Given the description of an element on the screen output the (x, y) to click on. 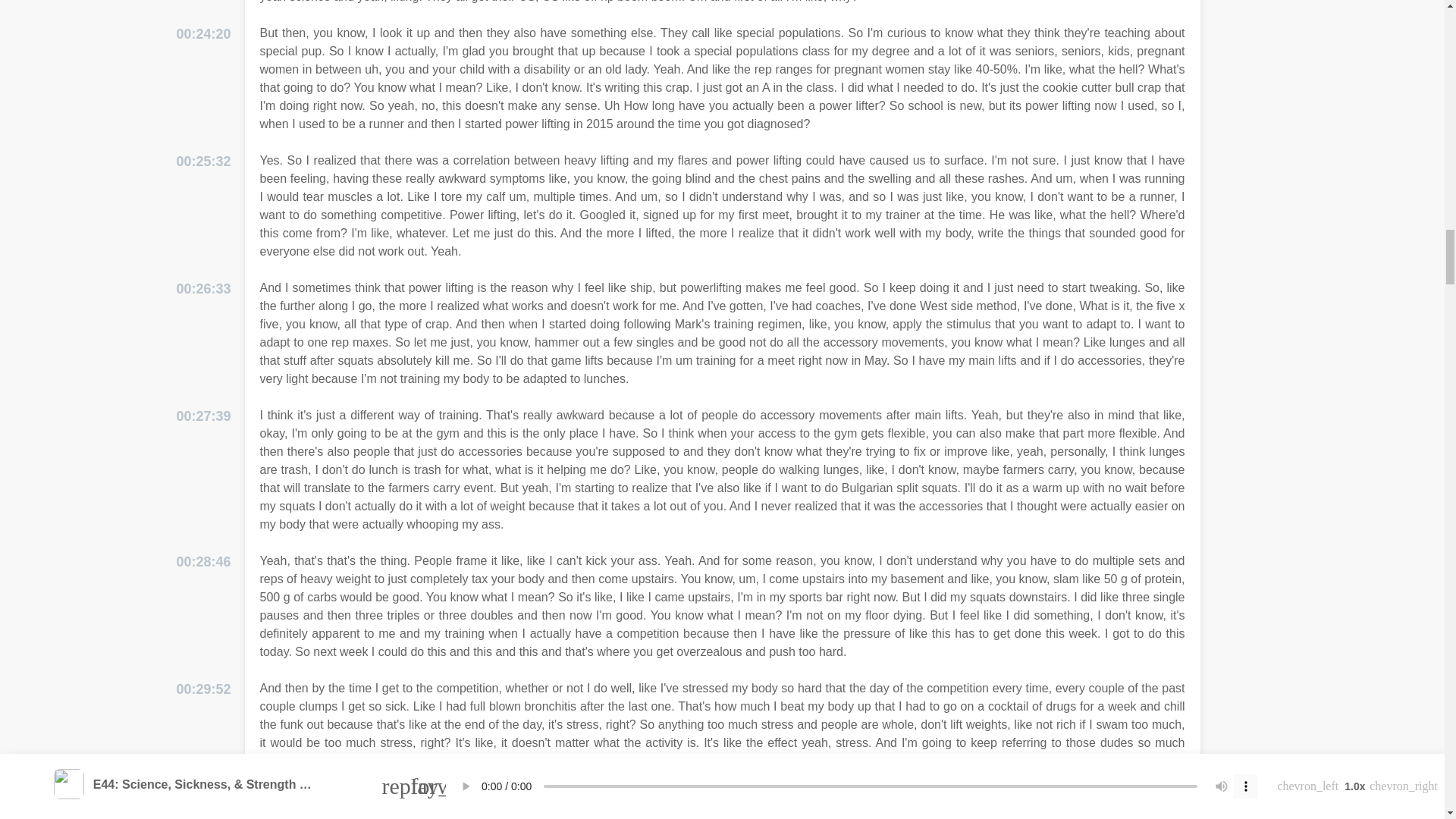
00:24:20 (203, 34)
00:29:52 (203, 689)
00:25:32 (203, 161)
00:28:46 (203, 562)
00:30:53 (203, 812)
00:26:33 (203, 289)
00:27:39 (203, 416)
